Given the description of an element on the screen output the (x, y) to click on. 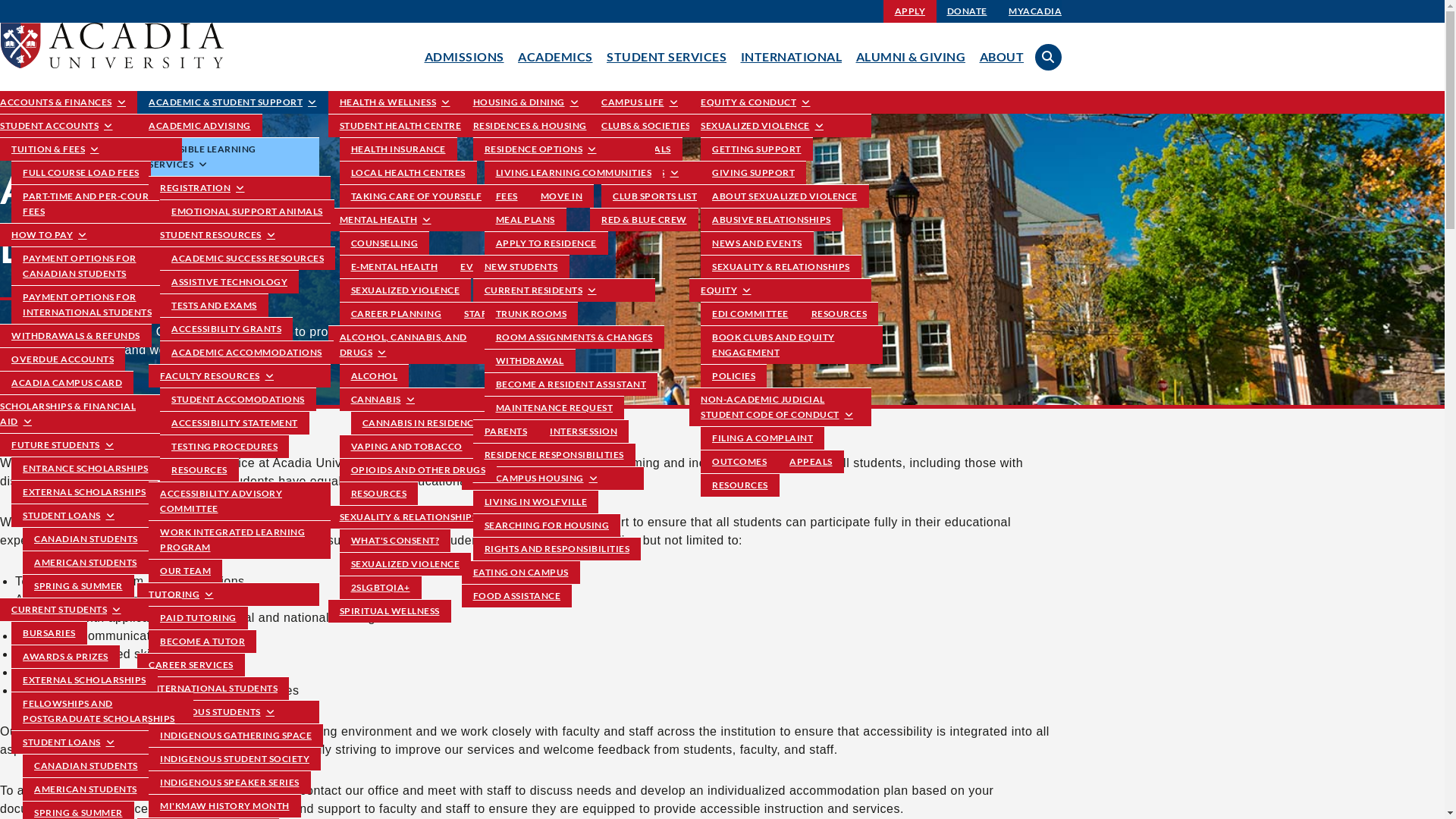
EXTERNAL SCHOLARSHIPS Element type: text (84, 679)
NEWS AND EVENTS Element type: text (756, 242)
HEALTH INSURANCE Element type: text (398, 148)
HOUSING & DINING Element type: text (525, 102)
ACADEMIC SUCCESS RESOURCES Element type: text (247, 257)
STUDENT LOANS Element type: text (102, 741)
SEARCHING FOR HOUSING Element type: text (547, 524)
OUTCOMES Element type: text (739, 461)
OFF-CAMPUS HOUSING Element type: text (552, 477)
RESIDENCES & HOUSING Element type: text (552, 125)
POLICIES Element type: text (733, 375)
CAREER PLANNING Element type: text (396, 313)
PAID TUTORING Element type: text (197, 617)
ABOUT SEXUALIZED VIOLENCE Element type: text (784, 195)
CAREER SERVICES Element type: text (190, 664)
DONATE Element type: text (966, 11)
PAYMENT OPTIONS FOR INTERNATIONAL STUDENTS Element type: text (102, 304)
LOCAL HEALTH CENTRES Element type: text (407, 172)
LIVING IN WOLFVILLE Element type: text (536, 501)
PAYMENT OPTIONS FOR CANADIAN STUDENTS Element type: text (102, 265)
TRUNK ROOMS Element type: text (530, 313)
CLUBS & SOCIETIES Element type: text (645, 125)
RIGHTS AND RESPONSIBILITIES Element type: text (557, 548)
SPRING & SUMMER Element type: text (78, 585)
INDIGENOUS SPEAKER SERIES Element type: text (229, 781)
ABUSIVE RELATIONSHIPS Element type: text (771, 219)
STUDENT LOANS Element type: text (102, 515)
MENTAL HEALTH Element type: text (418, 219)
BECOME A TUTOR Element type: text (202, 640)
MI'KMAW HISTORY MONTH Element type: text (224, 805)
LIVING LEARNING COMMUNITIES Element type: text (572, 172)
ACADEMICS Element type: text (555, 56)
RESOURCES Element type: text (199, 469)
SEXUALITY & RELATIONSHIPS Element type: text (418, 516)
WITHDRAWALS & REFUNDS Element type: text (75, 335)
EQUITY & CONDUCT Element type: text (755, 102)
ASSISTIVE TECHNOLOGY Element type: text (229, 281)
ABOUT Element type: text (1001, 56)
FULL COURSE LOAD FEES Element type: text (80, 172)
REGISTRATION Element type: text (239, 187)
RESOURCES Element type: text (378, 493)
SEXUALIZED VIOLENCE Element type: text (405, 563)
FELLOWSHIPS AND POSTGRADUATE SCHOLARSHIPS Element type: text (102, 710)
FEES Element type: text (505, 195)
NON-ACADEMIC JUDICIAL STUDENT CODE OF CONDUCT Element type: text (780, 406)
STUDENT ACCOMODATIONS Element type: text (238, 399)
FUTURE STUDENTS Element type: text (91, 444)
TAKING CARE OF YOURSELF Element type: text (416, 195)
STAFF Element type: text (478, 313)
INTERNATIONAL Element type: text (790, 56)
GETTING SUPPORT Element type: text (756, 148)
WITHDRAWAL Element type: text (528, 360)
ACCESSIBILITY GRANTS Element type: text (226, 328)
CANADIAN STUDENTS Element type: text (85, 765)
BURSARIES Element type: text (49, 632)
WHAT'S CONSENT? Element type: text (395, 540)
INTERNATIONAL STUDENTS Element type: text (212, 687)
INTRAMURALS Element type: text (635, 148)
STUDENT SERVICES Element type: text (666, 56)
ROOM ASSIGNMENTS & CHANGES Element type: text (573, 336)
INDIGENOUS STUDENTS Element type: text (228, 711)
MOVE IN Element type: text (561, 195)
APPEALS Element type: text (811, 461)
FILING A COMPLAINT Element type: text (762, 437)
AMERICAN STUDENTS Element type: text (85, 788)
AMERICAN STUDENTS Element type: text (85, 562)
ALCOHOL Element type: text (374, 375)
SEXUALIZED VIOLENCE Element type: text (780, 125)
CAMPUS LIFE Element type: text (639, 102)
OVERDUE ACCOUNTS Element type: text (62, 358)
RESOURCES Element type: text (838, 313)
TESTS AND EXAMS Element type: text (214, 304)
FACULTY RESOURCES Element type: text (239, 375)
BECOME A RESIDENT ASSISTANT Element type: text (570, 383)
TUITION & FEES Element type: text (91, 148)
HOW TO PAY Element type: text (91, 234)
COUNSELLING Element type: text (384, 242)
INDIGENOUS STUDENT SOCIETY Element type: text (234, 758)
PART-TIME AND PER-COURSE FEES Element type: text (102, 203)
CURRENT RESIDENTS Element type: text (564, 289)
STUDENT HEALTH CENTRE Element type: text (418, 125)
CANNABIS IN RESIDENCE Element type: text (420, 422)
EVENTS Element type: text (478, 266)
SEXUALITY & RELATIONSHIPS Element type: text (780, 266)
ACADIA CAMPUS CARD Element type: text (66, 382)
INTERSESSION Element type: text (583, 430)
MYACADIA Element type: text (1035, 11)
ADMISSIONS Element type: text (464, 56)
ACADEMIC ADVISING Element type: text (199, 125)
EXTERNAL SCHOLARSHIPS Element type: text (84, 491)
TUTORING Element type: text (228, 593)
APPLY Element type: text (909, 11)
OPIOIDS AND OTHER DRUGS Element type: text (418, 469)
CLUB SPORTS Element type: text (680, 172)
CANADIAN STUDENTS Element type: text (85, 538)
CANNABIS Element type: text (430, 399)
CURRENT STUDENTS Element type: text (91, 609)
INDIGENOUS GATHERING SPACE Element type: text (235, 734)
AWARDS & PRIZES Element type: text (65, 656)
EATING ON CAMPUS Element type: text (520, 571)
2SLGBTQIA+ Element type: text (380, 587)
WORK INTEGRATED LEARNING PROGRAM Element type: text (239, 539)
RED & BLUE CREW Element type: text (643, 219)
EDI COMMITTEE Element type: text (750, 313)
ALUMNI & GIVING Element type: text (910, 56)
RESIDENCE OPTIONS Element type: text (564, 148)
HEALTH & WELLNESS Element type: text (394, 102)
APPLY TO RESIDENCE Element type: text (545, 242)
STUDENT RESOURCES Element type: text (239, 234)
ACADEMIC ACCOMMODATIONS Element type: text (246, 352)
PARENTS Element type: text (506, 430)
BOOK CLUBS AND EQUITY ENGAGEMENT Element type: text (791, 344)
VAPING AND TOBACCO Element type: text (406, 446)
EQUITY Element type: text (780, 289)
CLUB SPORTS LIST Element type: text (654, 195)
OUR TEAM Element type: text (185, 570)
ACCESSIBILITY STATEMENT Element type: text (234, 422)
MEAL PLANS Element type: text (524, 219)
SPIRITUAL WELLNESS Element type: text (388, 610)
GIVING SUPPORT Element type: text (753, 172)
NEW STUDENTS Element type: text (521, 266)
ENTRANCE SCHOLARSHIPS Element type: text (85, 468)
ALCOHOL, CANNABIS, AND DRUGS Element type: text (418, 344)
FOOD ASSISTANCE Element type: text (516, 595)
RESIDENCE RESPONSIBILITIES Element type: text (554, 454)
ACCESSIBILITY ADVISORY COMMITTEE Element type: text (239, 500)
RESOURCES Element type: text (739, 484)
TESTING PROCEDURES Element type: text (224, 446)
MAINTENANCE REQUEST Element type: text (553, 407)
ACADEMIC & STUDENT SUPPORT Element type: text (232, 102)
E-MENTAL HEALTH Element type: text (394, 266)
SEXUALIZED VIOLENCE Element type: text (405, 289)
EMOTIONAL SUPPORT ANIMALS Element type: text (247, 210)
